Given the description of an element on the screen output the (x, y) to click on. 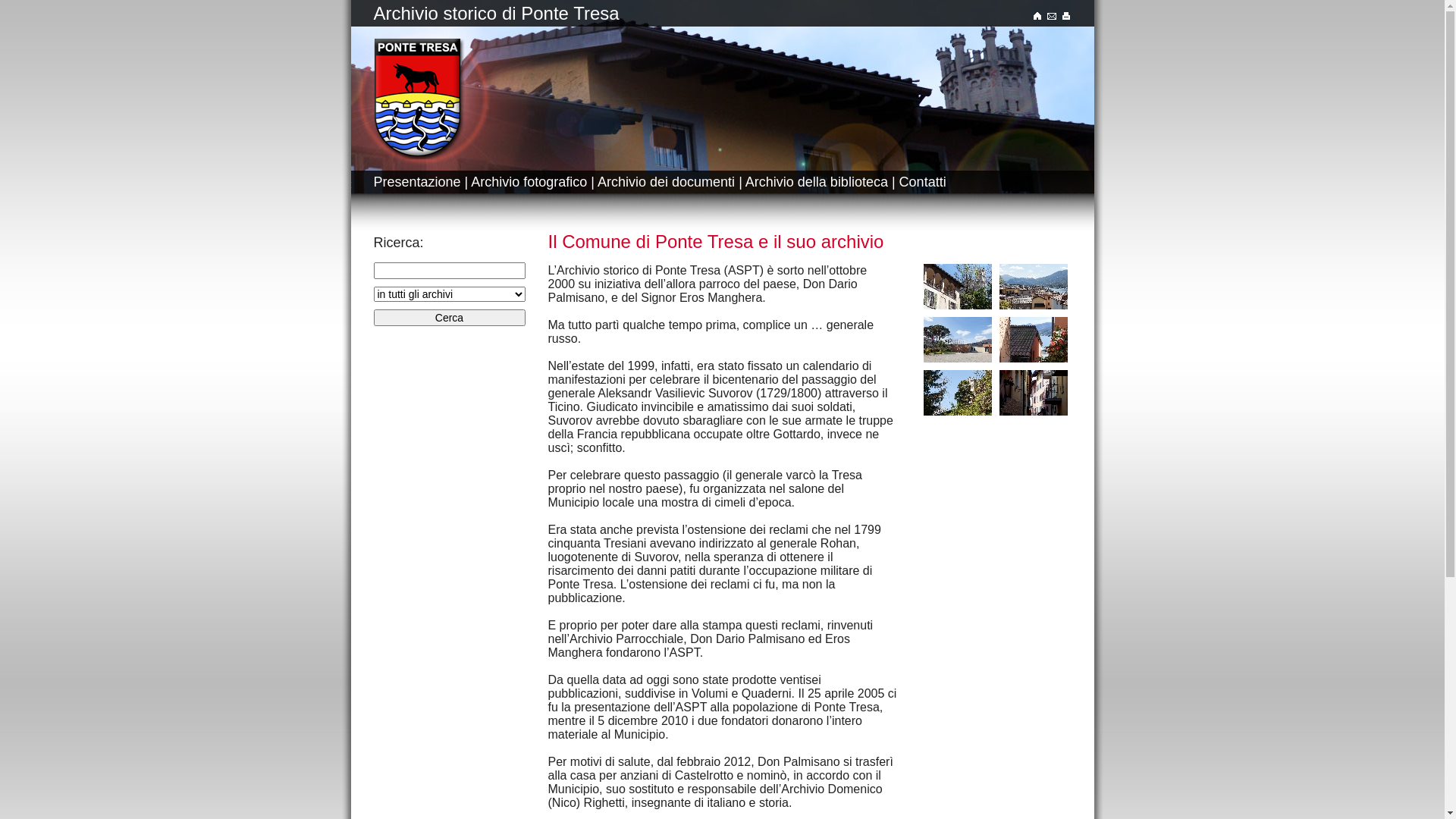
Archivio fotografico Element type: text (528, 181)
Presentazione Element type: text (416, 181)
Cerca Element type: text (448, 317)
Archivio della biblioteca Element type: text (816, 181)
Contatti Element type: text (922, 181)
Archivio dei documenti Element type: text (665, 181)
